Given the description of an element on the screen output the (x, y) to click on. 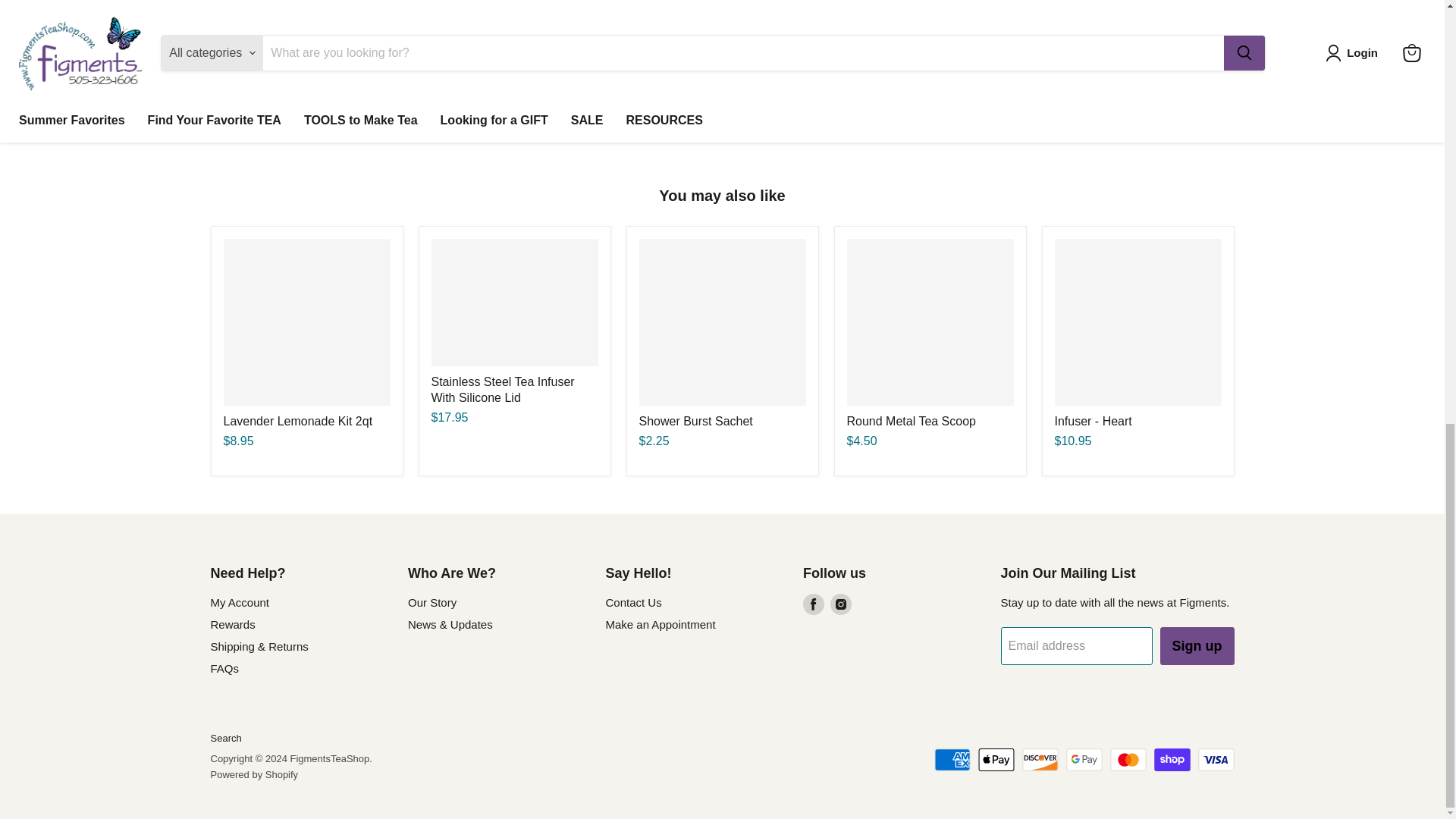
Discover (1040, 759)
American Express (952, 759)
Mastercard (1128, 759)
Apple Pay (996, 759)
Google Pay (1083, 759)
Visa (1216, 759)
Instagram (840, 604)
Facebook (813, 604)
Lavender Lemonade Kit 2qt (297, 420)
Shop Pay (1172, 759)
